Given the description of an element on the screen output the (x, y) to click on. 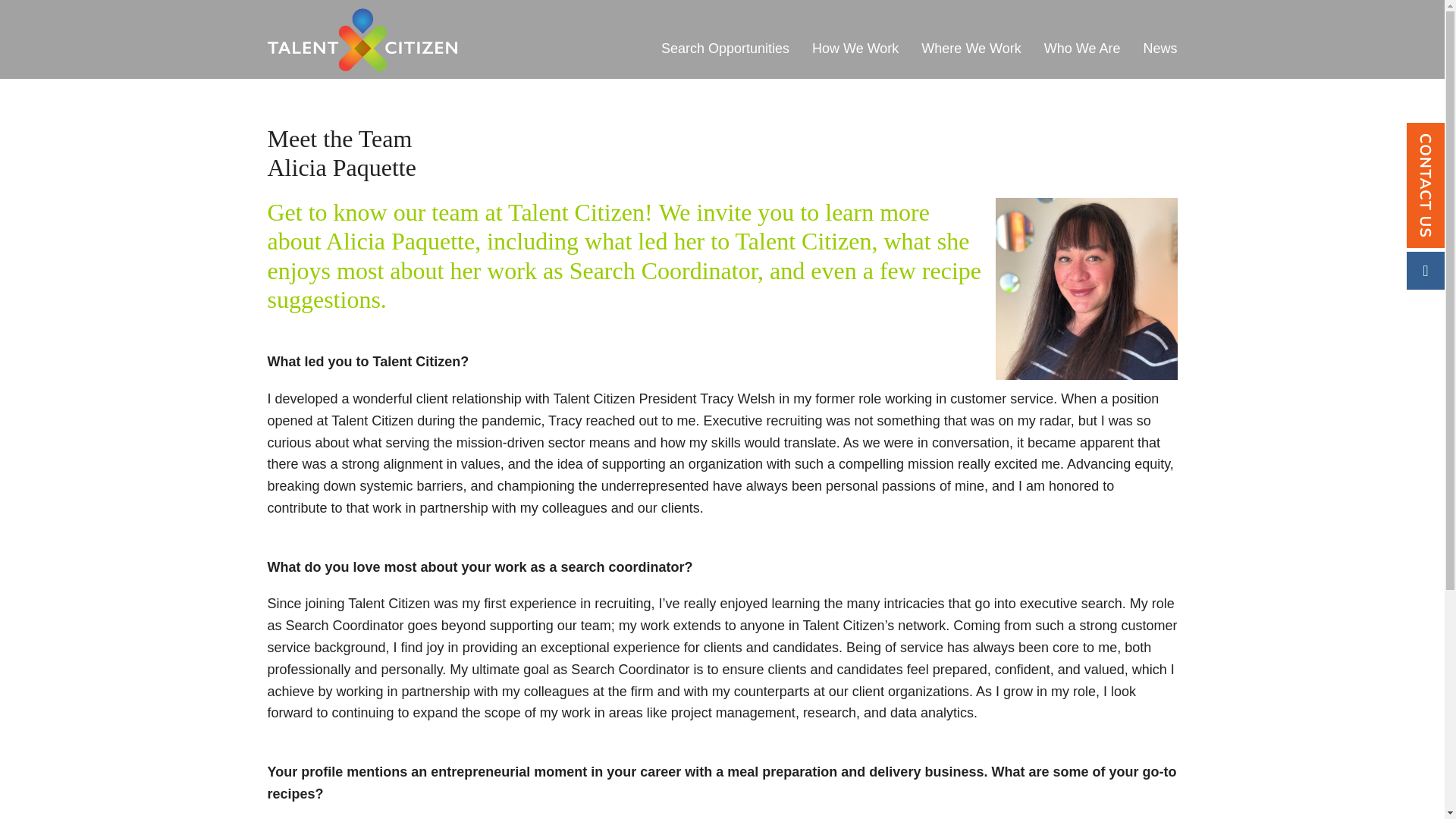
News (1159, 52)
Search Opportunities (725, 52)
Where We Work (970, 52)
How We Work (855, 52)
Who We Are (1082, 52)
